Given the description of an element on the screen output the (x, y) to click on. 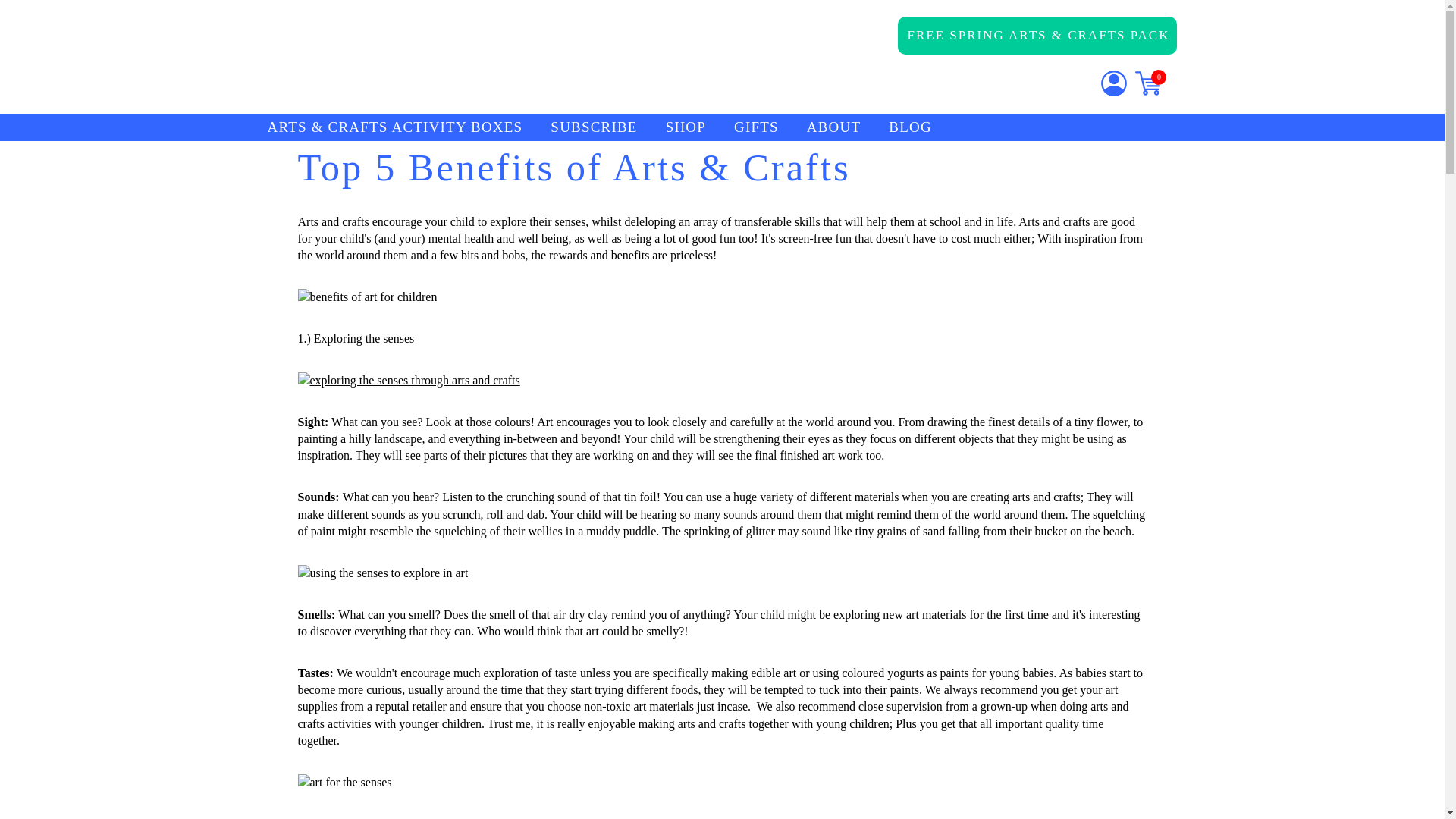
0 (1148, 83)
ABOUT (833, 126)
SHOP (685, 126)
SUBSCRIBE (593, 126)
BLOG (909, 126)
GIFTS (755, 126)
